Given the description of an element on the screen output the (x, y) to click on. 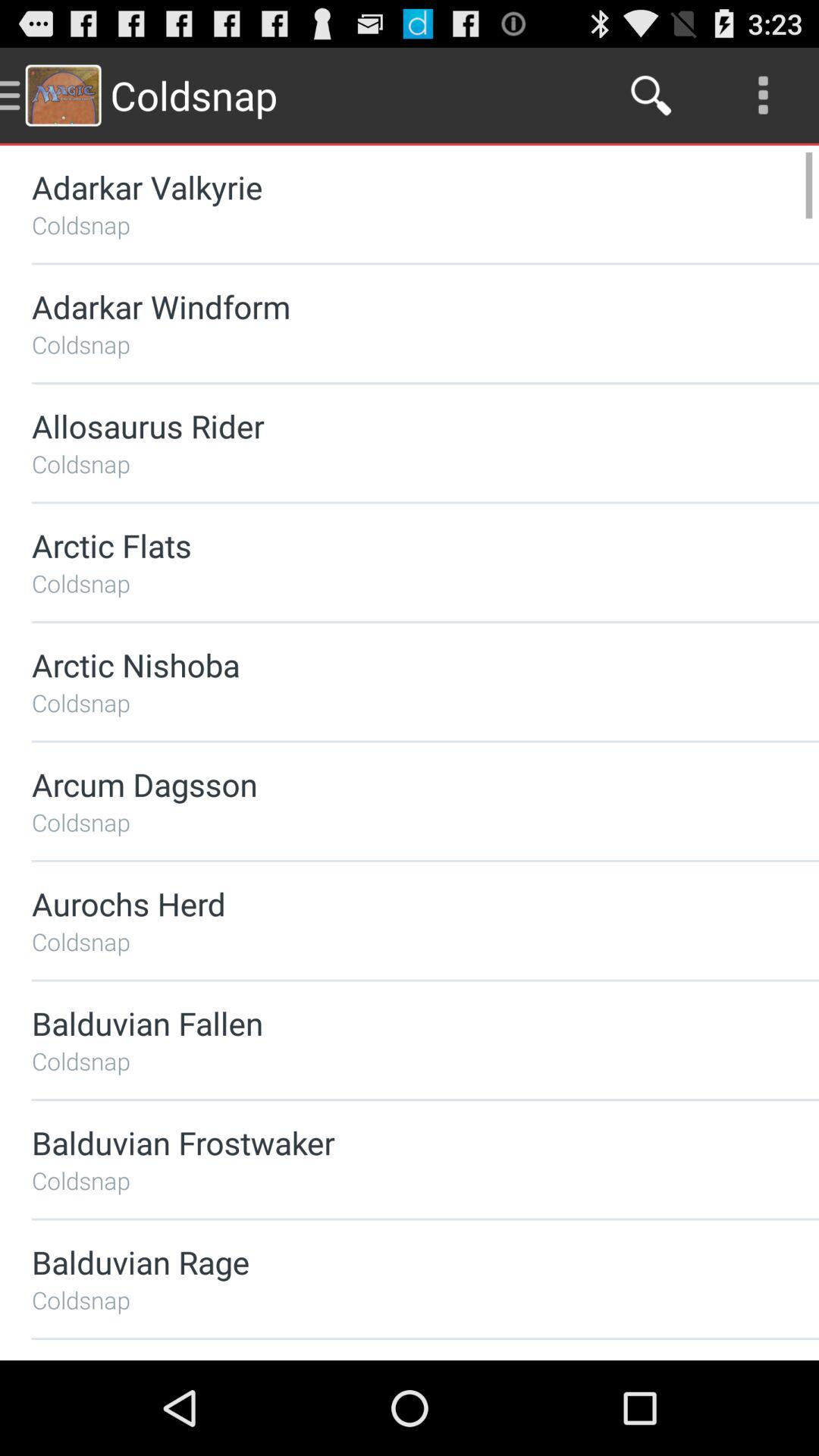
select the allosaurus rider item (385, 425)
